Given the description of an element on the screen output the (x, y) to click on. 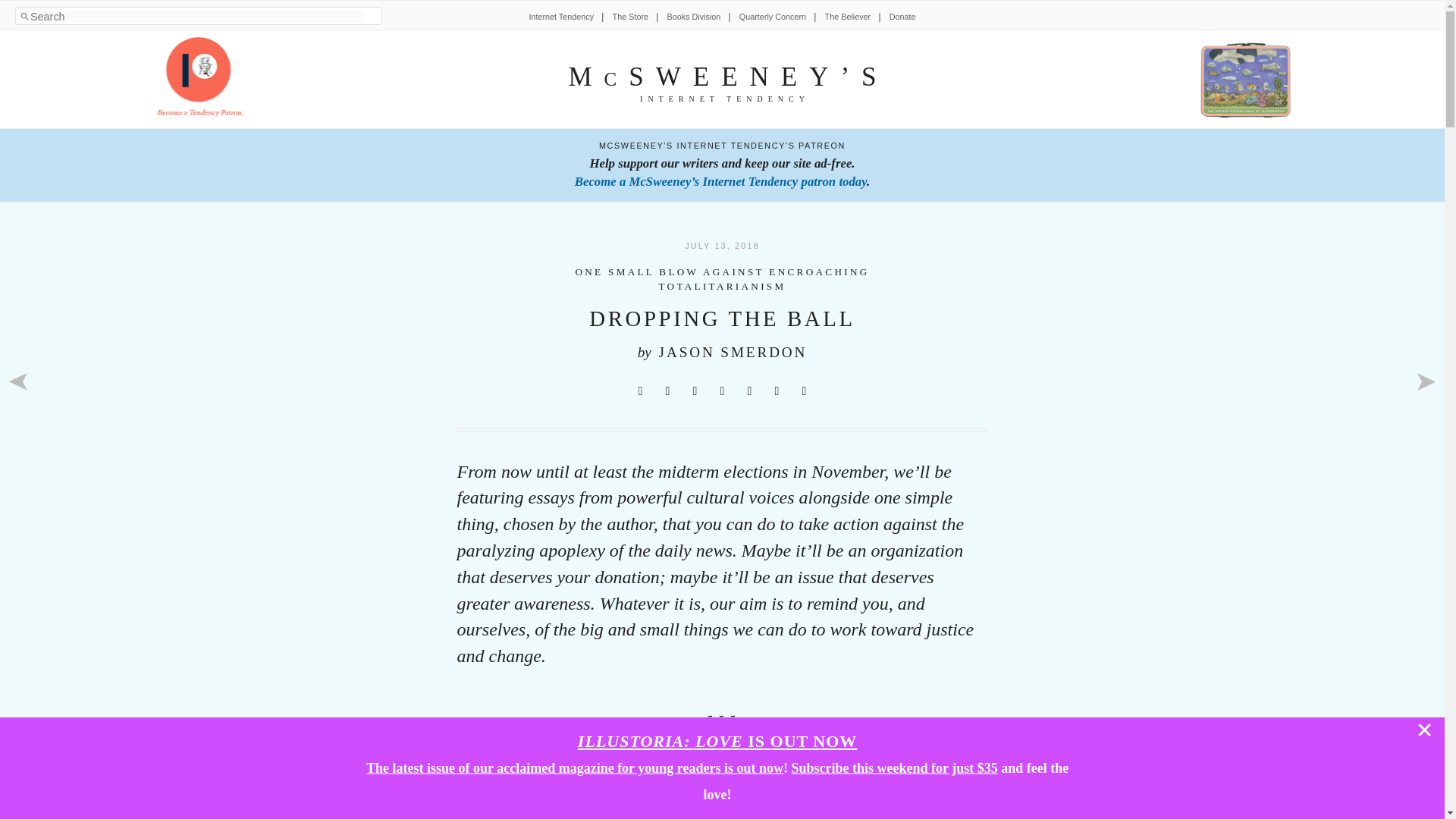
The Store (629, 16)
Share to X (640, 391)
Search Field (196, 16)
JASON SMERDON (733, 351)
Internet Tendency (561, 16)
The Believer (847, 16)
Books Division (693, 16)
Share to Email (777, 391)
Share to Threads (749, 391)
Share to Facebook (667, 391)
Share to Reddit (695, 391)
Share to Bluesky (722, 391)
Copy to Clipboard (804, 391)
Donate (902, 16)
Quarterly Concern (772, 16)
